Given the description of an element on the screen output the (x, y) to click on. 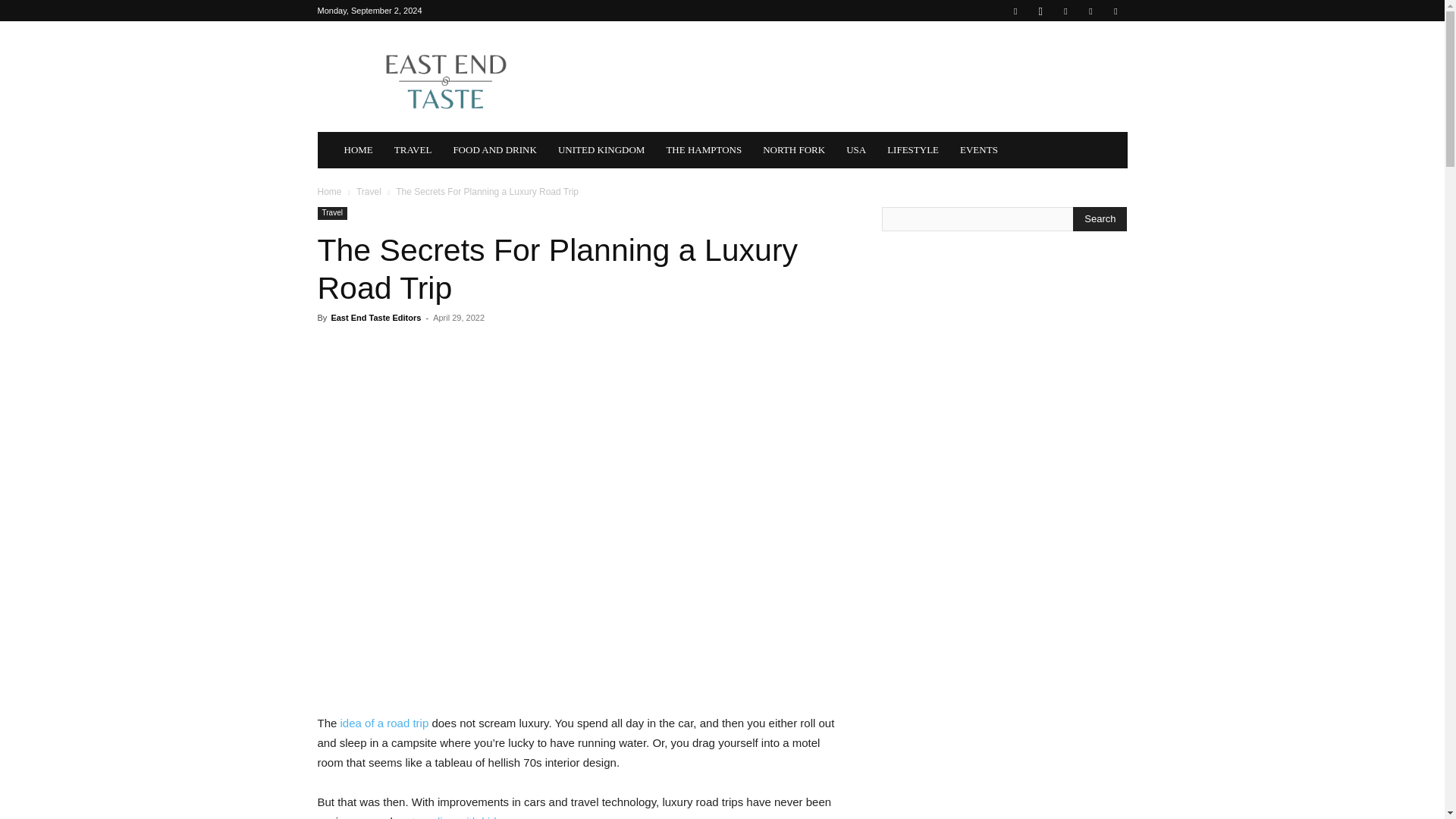
Facebook (1015, 10)
Instagram (1040, 10)
Twitter (1114, 10)
Search (1099, 218)
Pinterest (1065, 10)
Reddit (1090, 10)
